Given the description of an element on the screen output the (x, y) to click on. 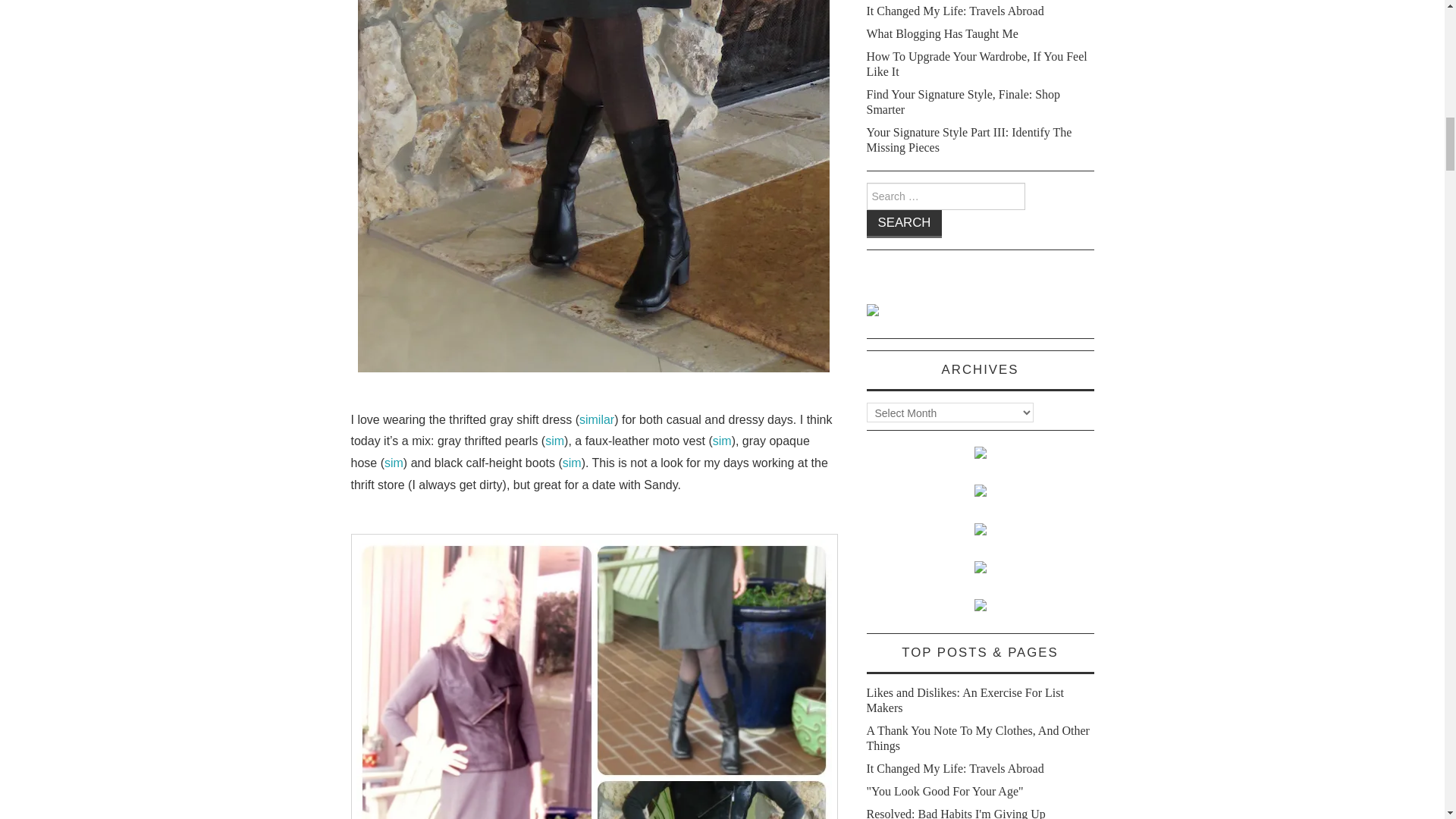
Search (904, 223)
sim (722, 440)
Search (904, 223)
sim (393, 462)
sim (554, 440)
sim (571, 462)
similar (596, 419)
